Given the description of an element on the screen output the (x, y) to click on. 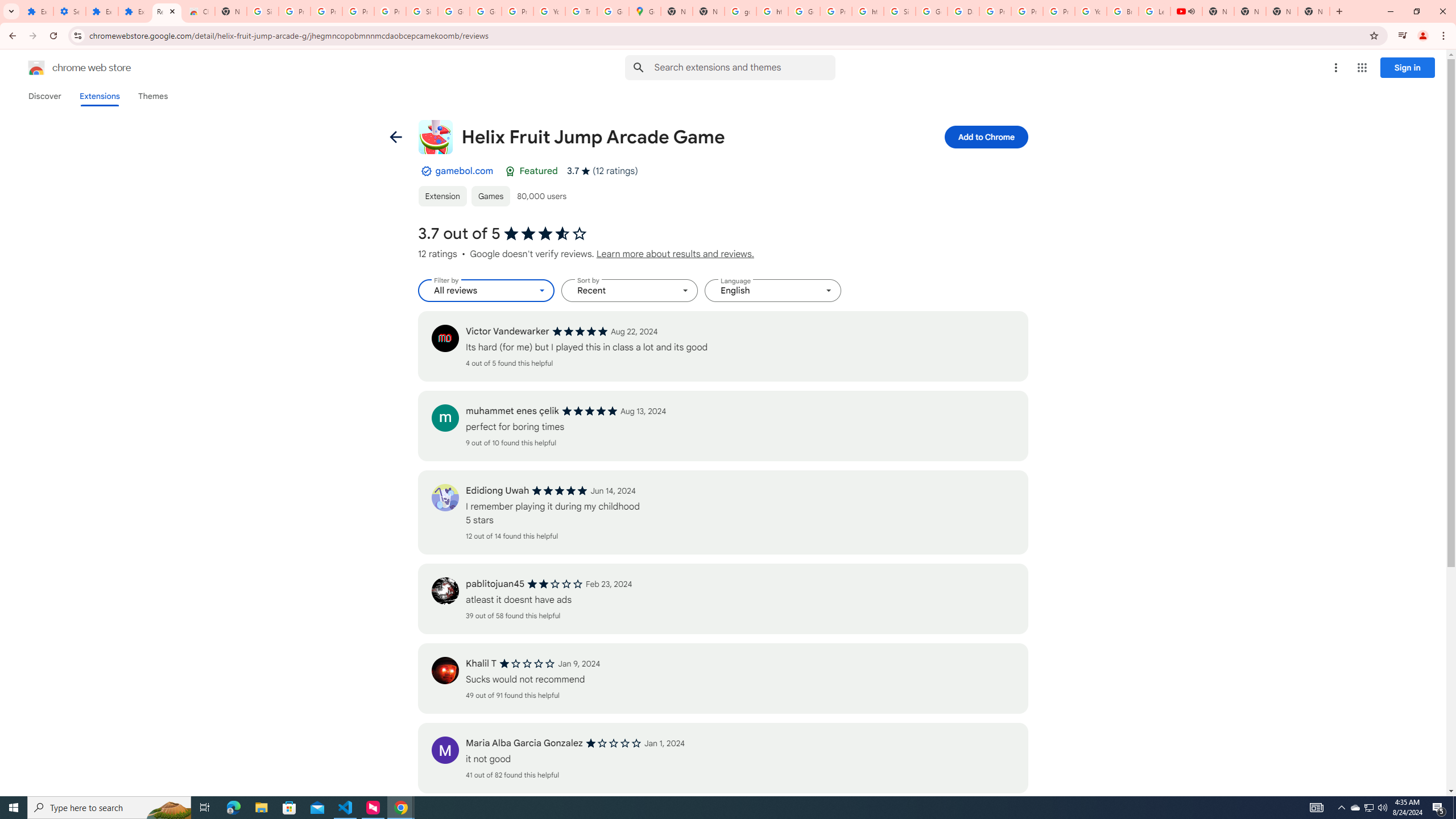
YouTube (1091, 11)
Chrome Web Store logo chrome web store (67, 67)
Privacy Help Center - Policies Help (1027, 11)
2 out of 5 stars (555, 584)
Sort by Recent (629, 290)
Featured Badge (510, 170)
